Given the description of an element on the screen output the (x, y) to click on. 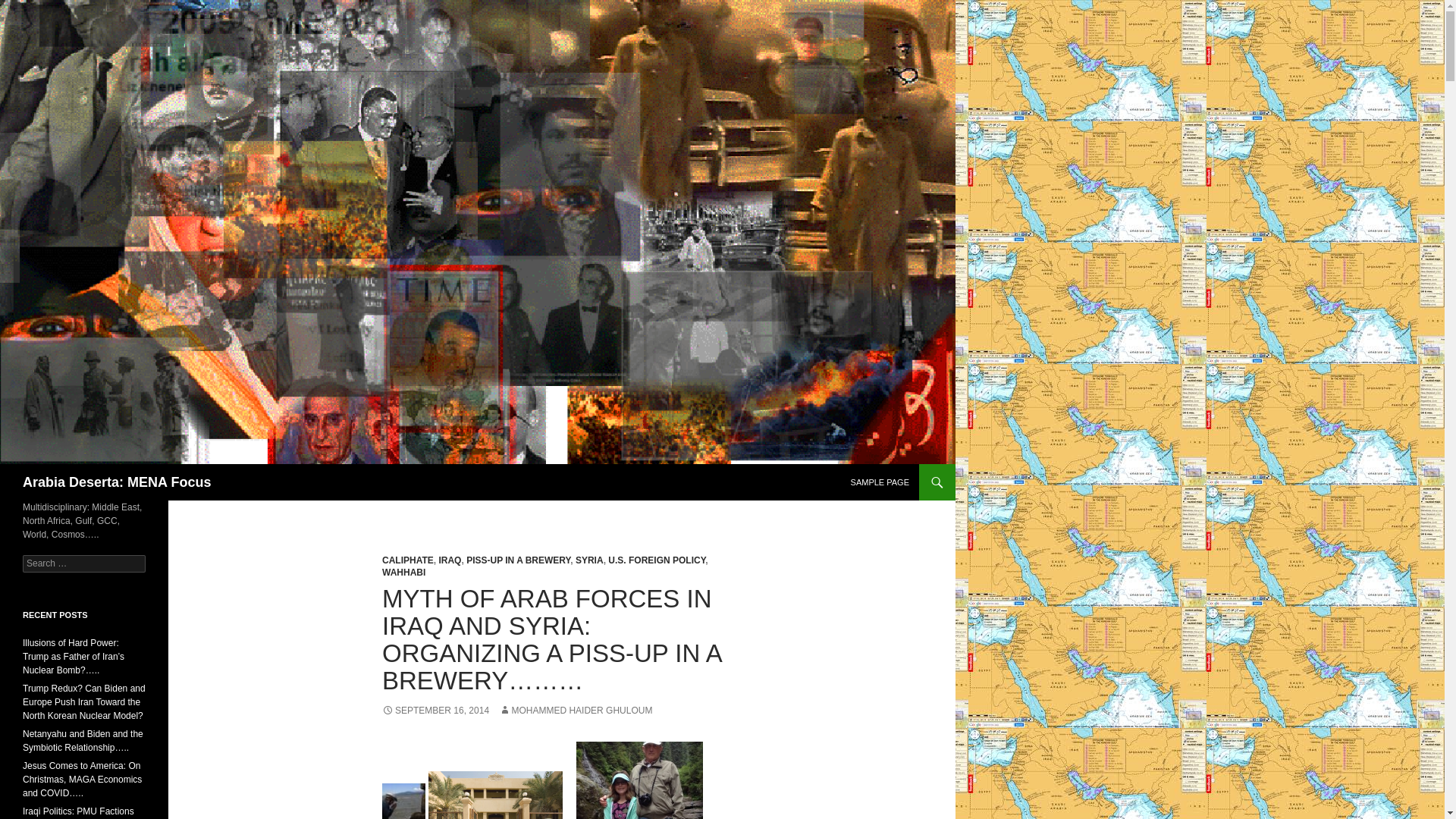
SYRIA (589, 560)
WAHHABI (403, 572)
Arabia Deserta: MENA Focus (117, 482)
U.S. FOREIGN POLICY (656, 560)
PISS-UP IN A BREWERY (517, 560)
MOHAMMED HAIDER GHULOUM (575, 710)
IRAQ (449, 560)
SEPTEMBER 16, 2014 (435, 710)
Search (30, 8)
CALIPHATE (407, 560)
SAMPLE PAGE (879, 482)
Iraqi Politics: PMU Factions Splitting into More Factions? (79, 812)
